Given the description of an element on the screen output the (x, y) to click on. 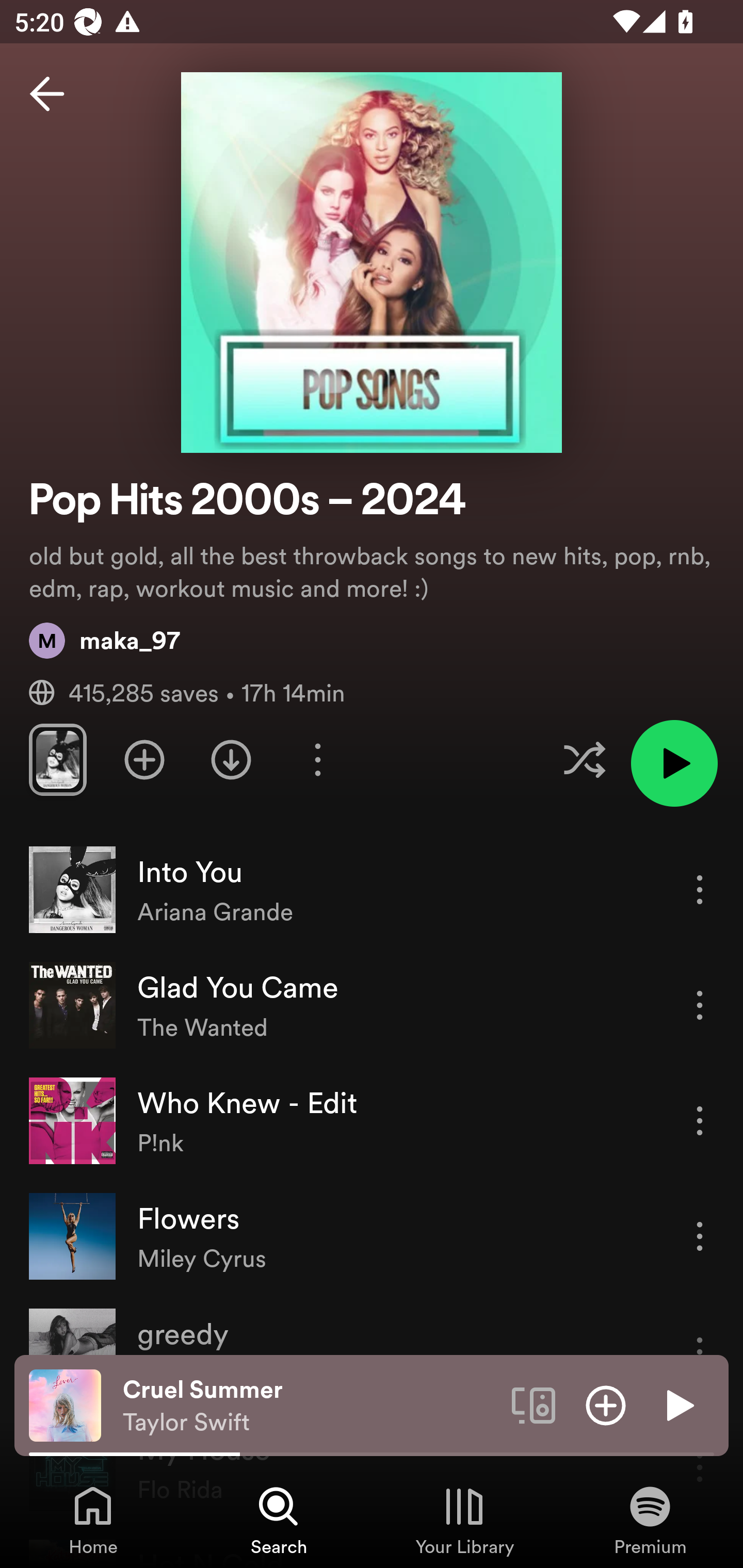
Back (46, 93)
maka_97 (104, 640)
Swipe through previews of tracks in this playlist. (57, 759)
Add playlist to Your Library (144, 759)
Download (230, 759)
More options for playlist Pop Hits 2000s – 2024 (317, 759)
Enable shuffle for this playlist (583, 759)
Play playlist (674, 763)
More options for song Into You (699, 889)
More options for song Glad You Came (699, 1004)
More options for song Who Knew - Edit (699, 1120)
Flowers Miley Cyrus More options for song Flowers (371, 1236)
More options for song Flowers (699, 1236)
Cruel Summer Taylor Swift (309, 1405)
The cover art of the currently playing track (64, 1404)
Connect to a device. Opens the devices menu (533, 1404)
Add item (605, 1404)
Play (677, 1404)
Home, Tab 1 of 4 Home Home (92, 1519)
Search, Tab 2 of 4 Search Search (278, 1519)
Your Library, Tab 3 of 4 Your Library Your Library (464, 1519)
Premium, Tab 4 of 4 Premium Premium (650, 1519)
